Given the description of an element on the screen output the (x, y) to click on. 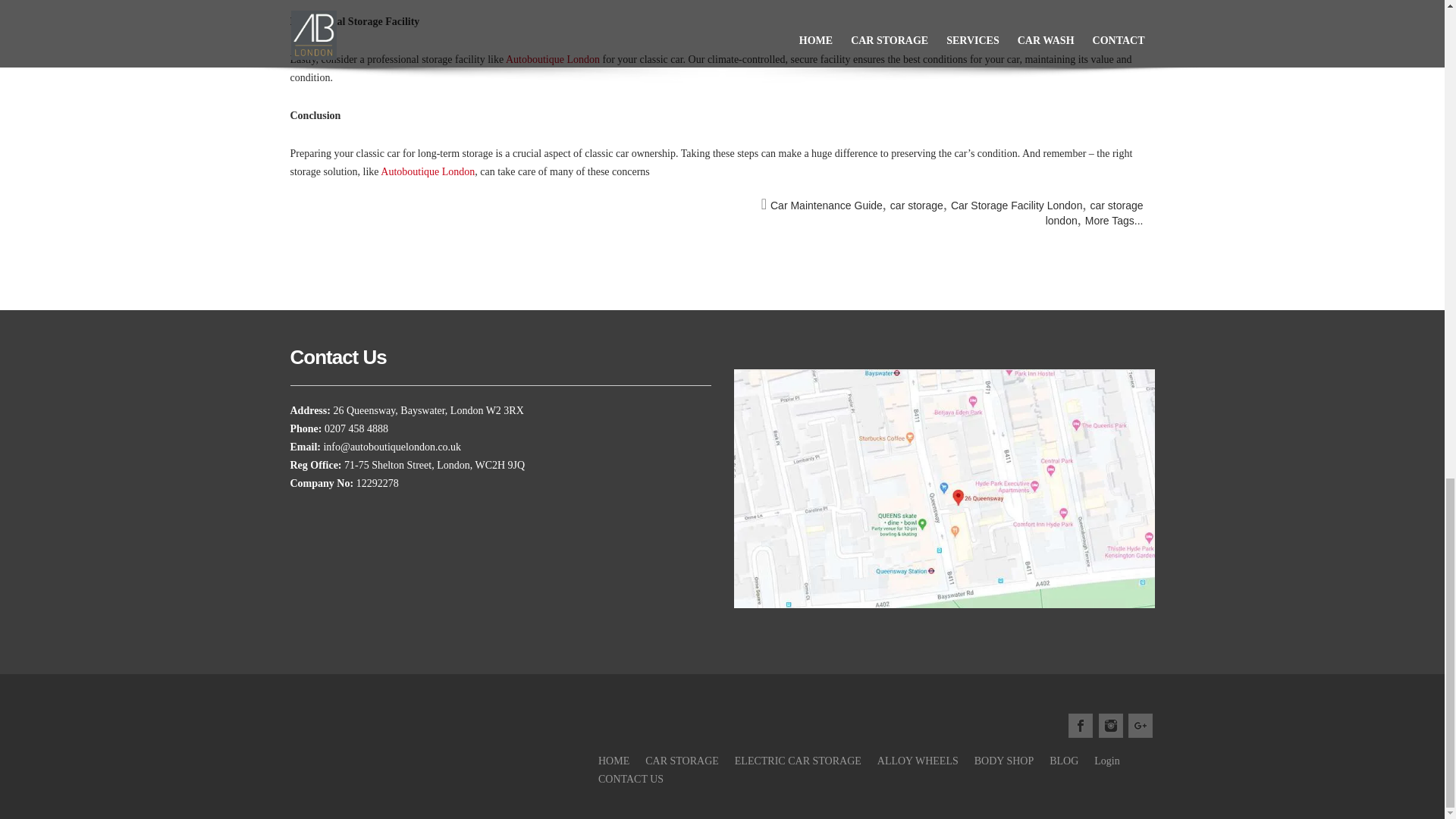
car storage (916, 205)
car storage london Tag (1093, 212)
Car Storage Facility London (1016, 205)
Autoboutique London (552, 59)
car storage Tag (916, 205)
Autoboutique London (427, 171)
Car Maintenance Guide Tag (826, 205)
ALLOY WHEELS (917, 760)
Car Maintenance Guide (826, 205)
More Tags... (1113, 220)
